Given the description of an element on the screen output the (x, y) to click on. 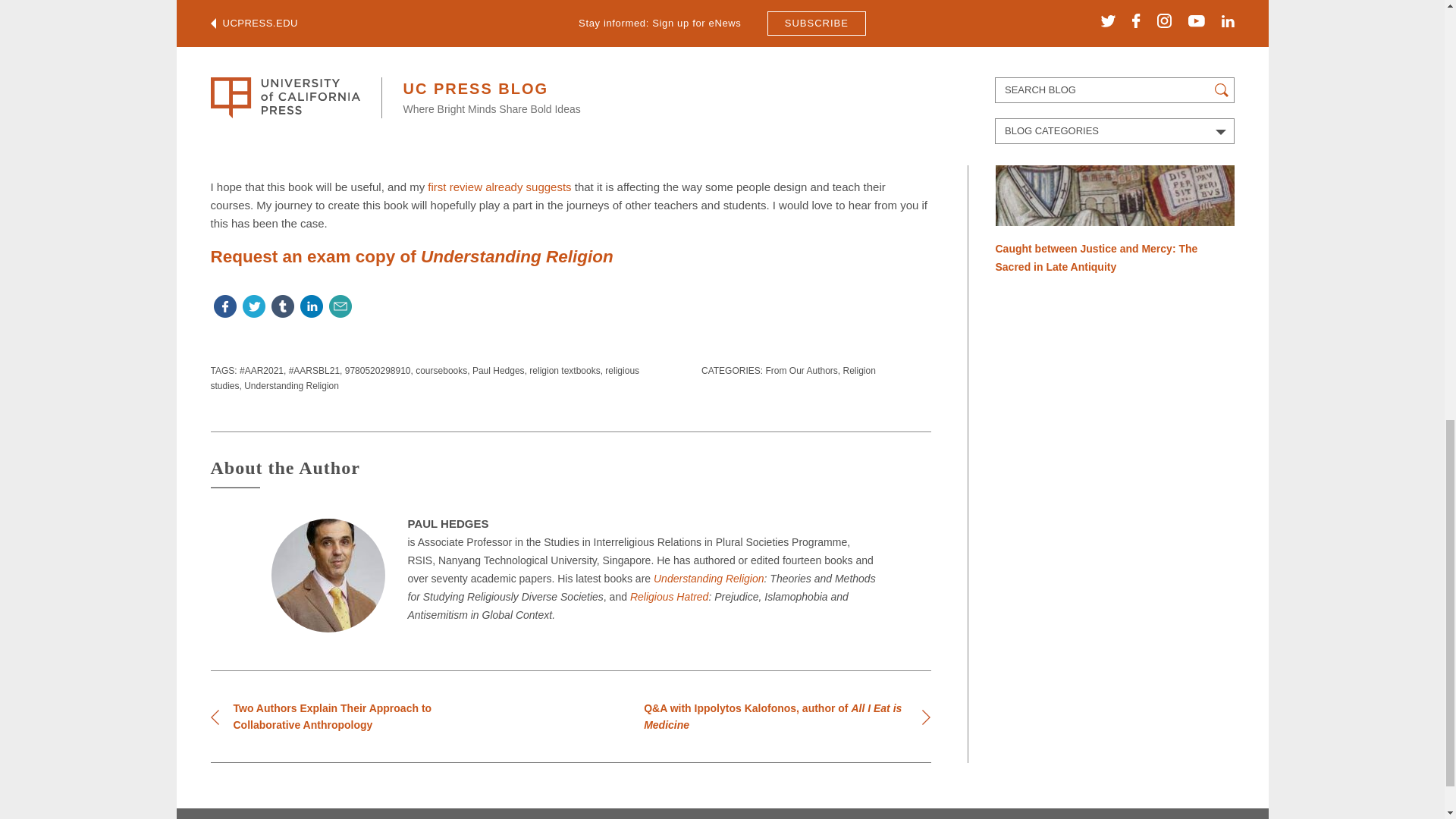
Facebook (225, 309)
Melania and Melania: Two Vexing Icons of Early Christianity (1113, 20)
Tumblr (282, 309)
Email (340, 309)
LinkedIn (311, 309)
Twitter (253, 309)
